Given the description of an element on the screen output the (x, y) to click on. 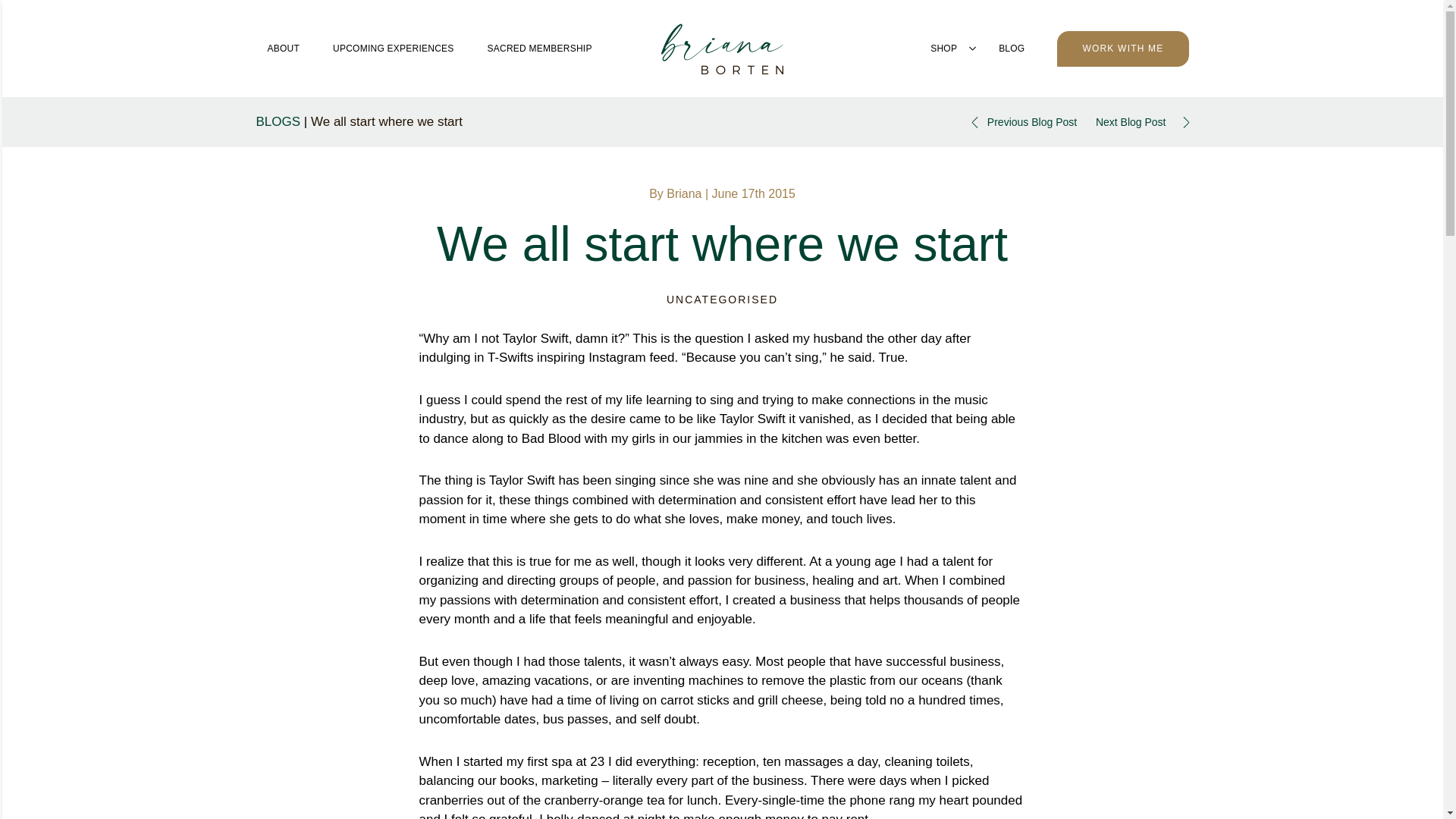
BLOG (1011, 48)
ABOUT (283, 48)
UNCATEGORISED (722, 299)
Next Blog Post (1142, 121)
SHOP (943, 48)
UPCOMING EXPERIENCES (393, 48)
WORK WITH ME (1122, 48)
Previous Blog Post (1020, 121)
BLOGS (278, 121)
SACRED MEMBERSHIP (540, 48)
